Given the description of an element on the screen output the (x, y) to click on. 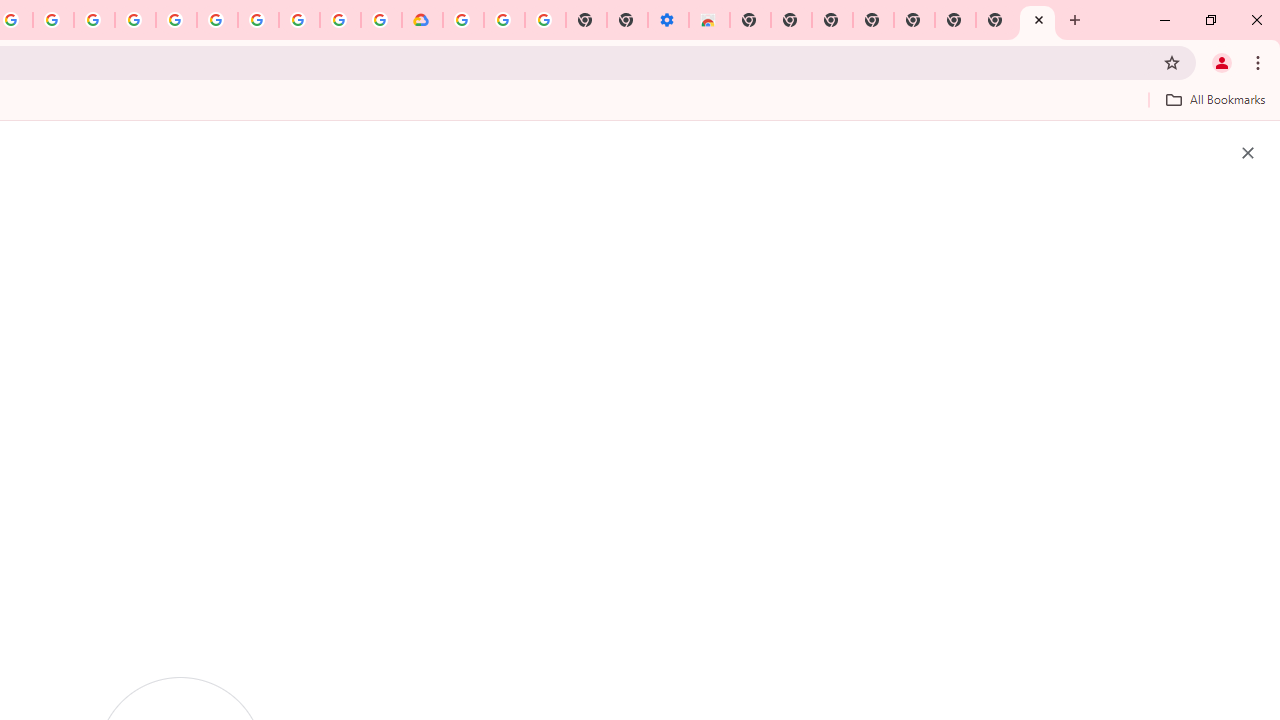
Sign in - Google Accounts (462, 20)
Sign in - Google Accounts (176, 20)
Google Account Help (258, 20)
Google Account Help (503, 20)
Chrome Web Store - Accessibility extensions (708, 20)
Create your Google Account (340, 20)
Create your Google Account (53, 20)
New Tab (1037, 20)
